Given the description of an element on the screen output the (x, y) to click on. 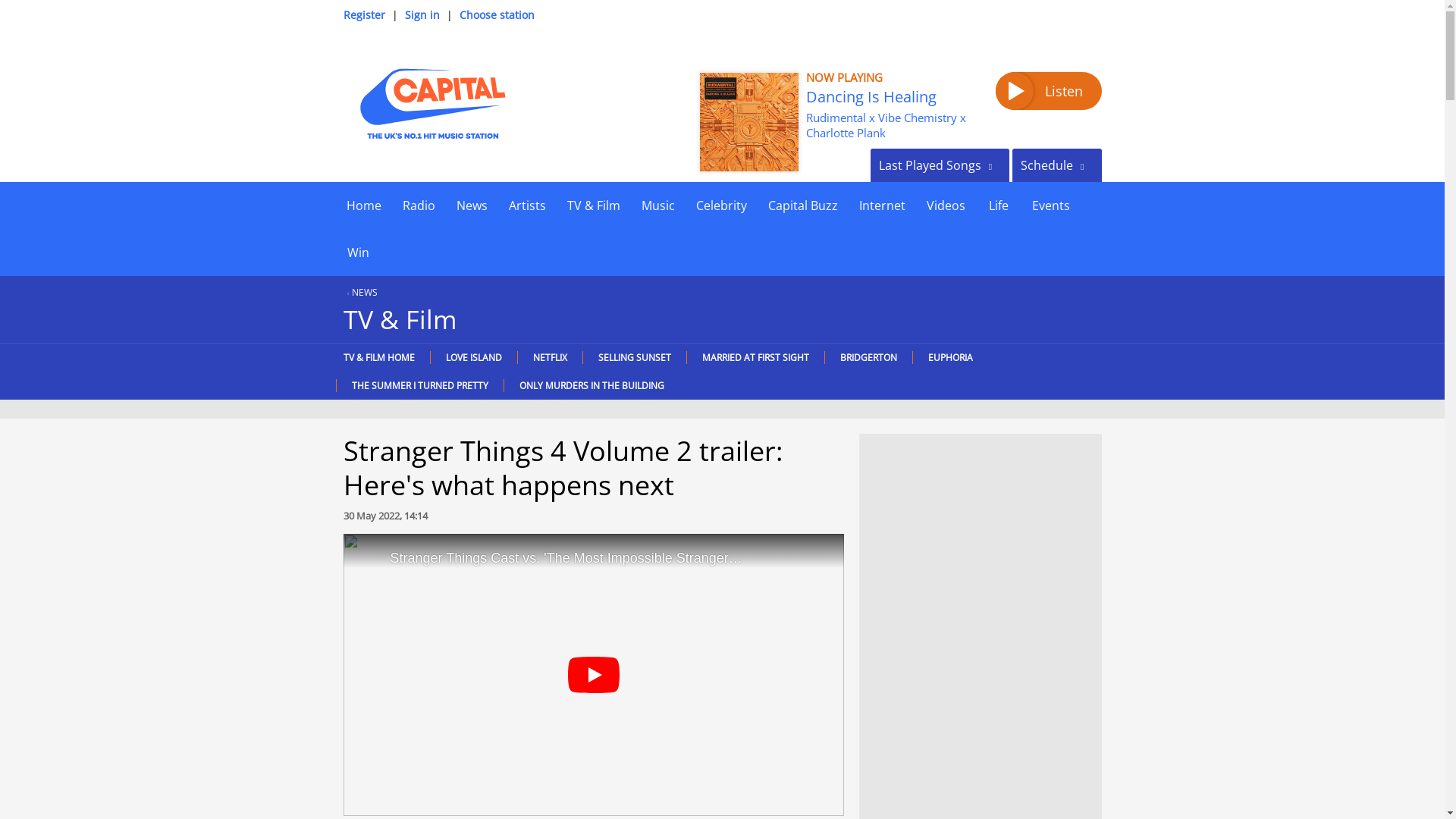
Choose station (497, 14)
Internet (881, 205)
Listen (1047, 90)
Last Played Songs (939, 164)
Home (362, 205)
Music (657, 205)
Videos (945, 205)
MARRIED AT FIRST SIGHT (754, 357)
Events (1050, 205)
THE SUMMER I TURNED PRETTY (418, 385)
